Given the description of an element on the screen output the (x, y) to click on. 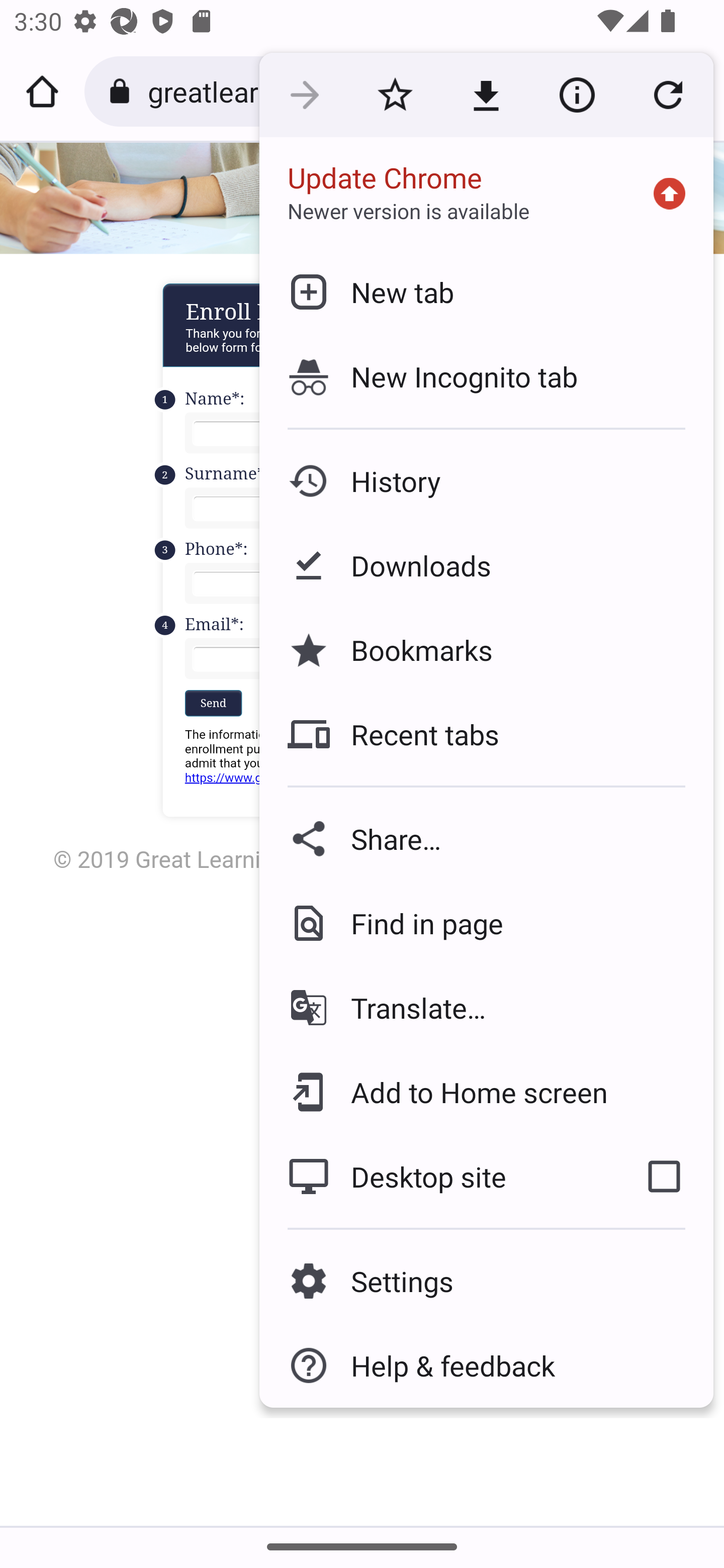
Forward (304, 95)
Bookmark (394, 95)
Download (485, 95)
Page info (576, 95)
Refresh (667, 95)
New tab (486, 291)
New Incognito tab (486, 375)
History (486, 481)
Downloads (486, 565)
Bookmarks (486, 649)
Recent tabs (486, 733)
Share… (486, 838)
Find in page (486, 923)
Translate… (486, 1007)
Add to Home screen (486, 1091)
Desktop site Turn on Request desktop site (436, 1175)
Settings (486, 1280)
Help & feedback (486, 1365)
